Given the description of an element on the screen output the (x, y) to click on. 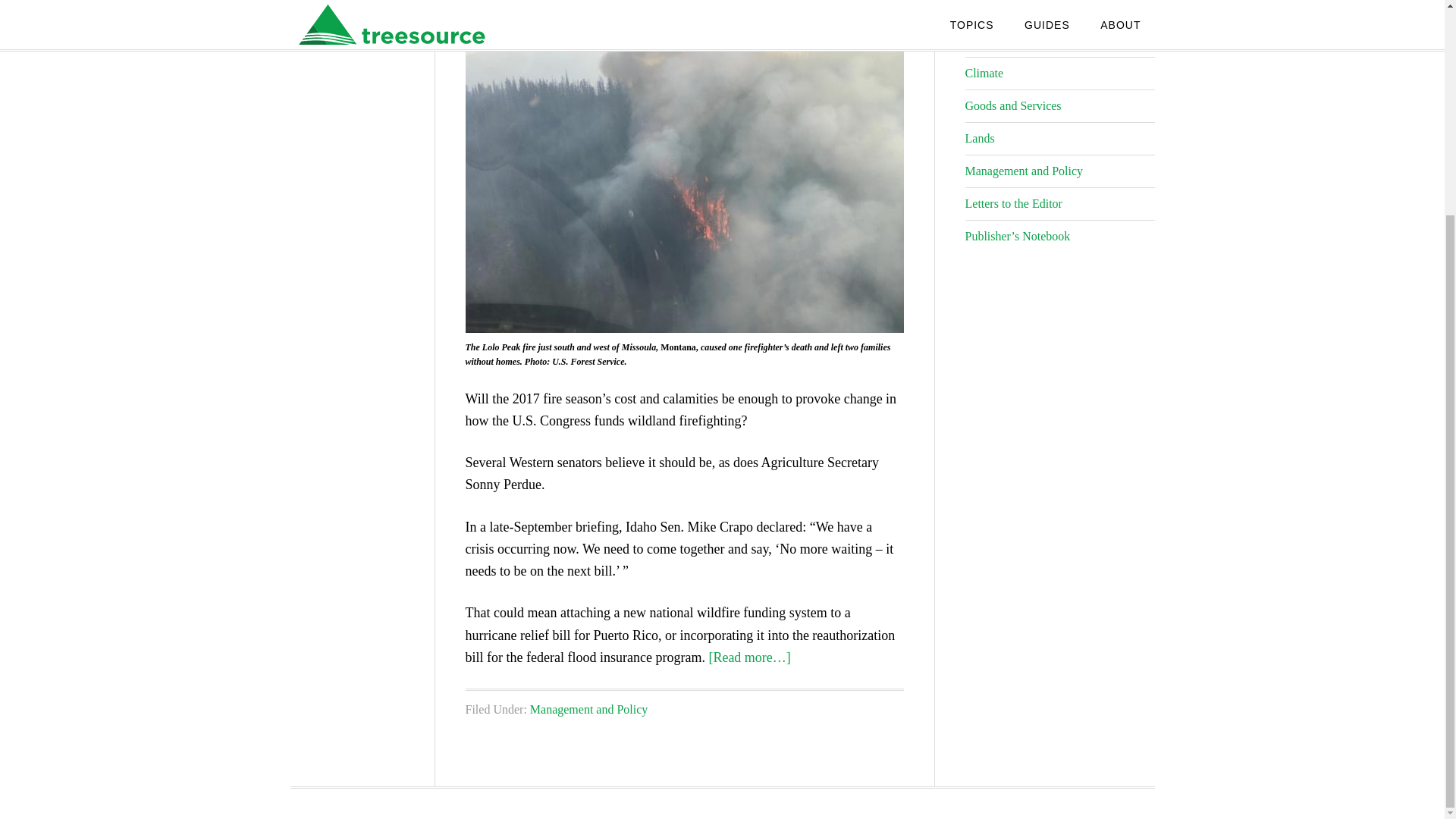
Management and Policy (588, 708)
Lands (978, 137)
Biodiversity (994, 40)
Climate (983, 72)
Management and Policy (1023, 170)
Goods and Services (1012, 105)
Letters to the Editor (1012, 203)
